Given the description of an element on the screen output the (x, y) to click on. 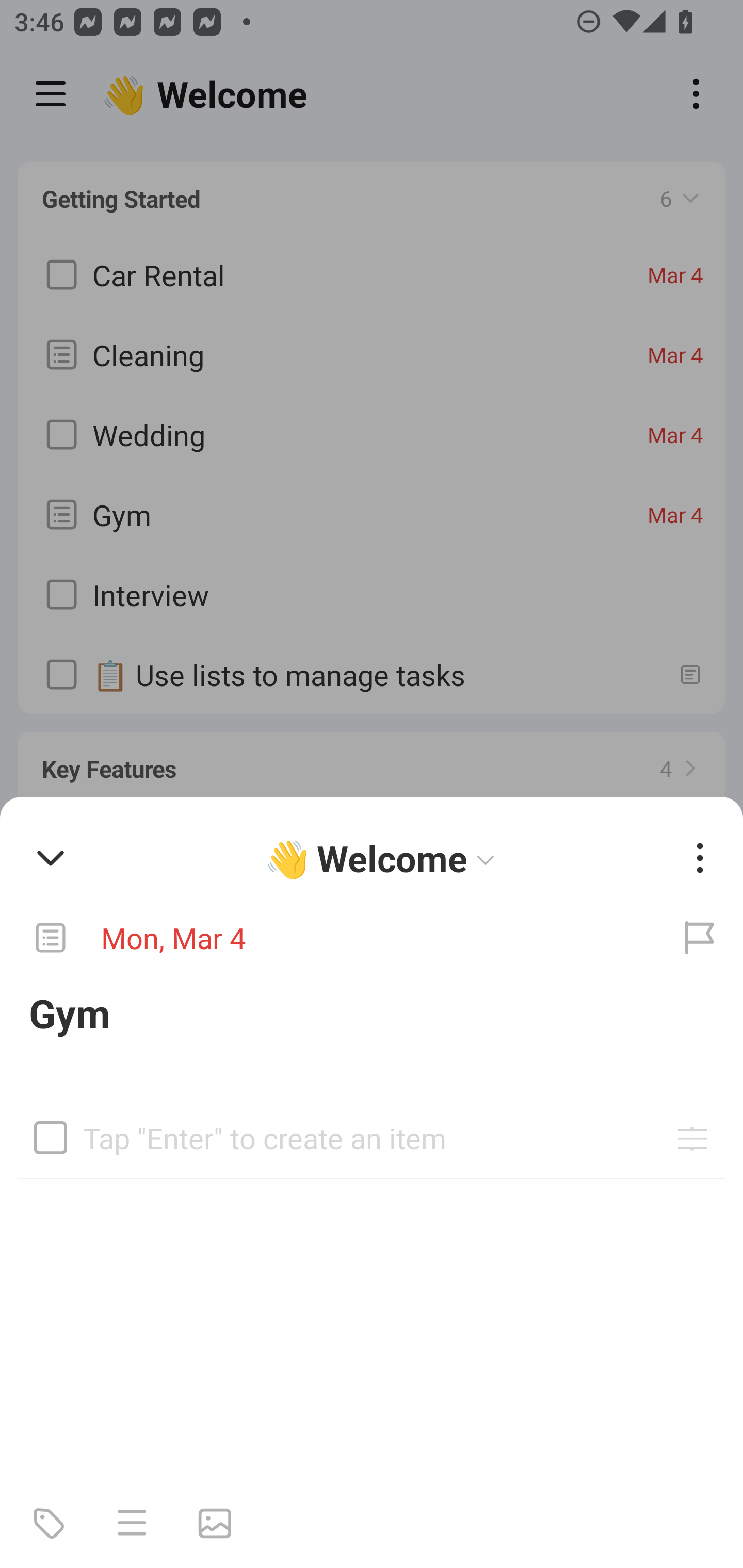
👋 Welcome (384, 858)
Mon, Mar 4  (328, 938)
Gym (371, 1012)
  (50, 1137)
Tap "Enter" to create an item (371, 1130)
